Given the description of an element on the screen output the (x, y) to click on. 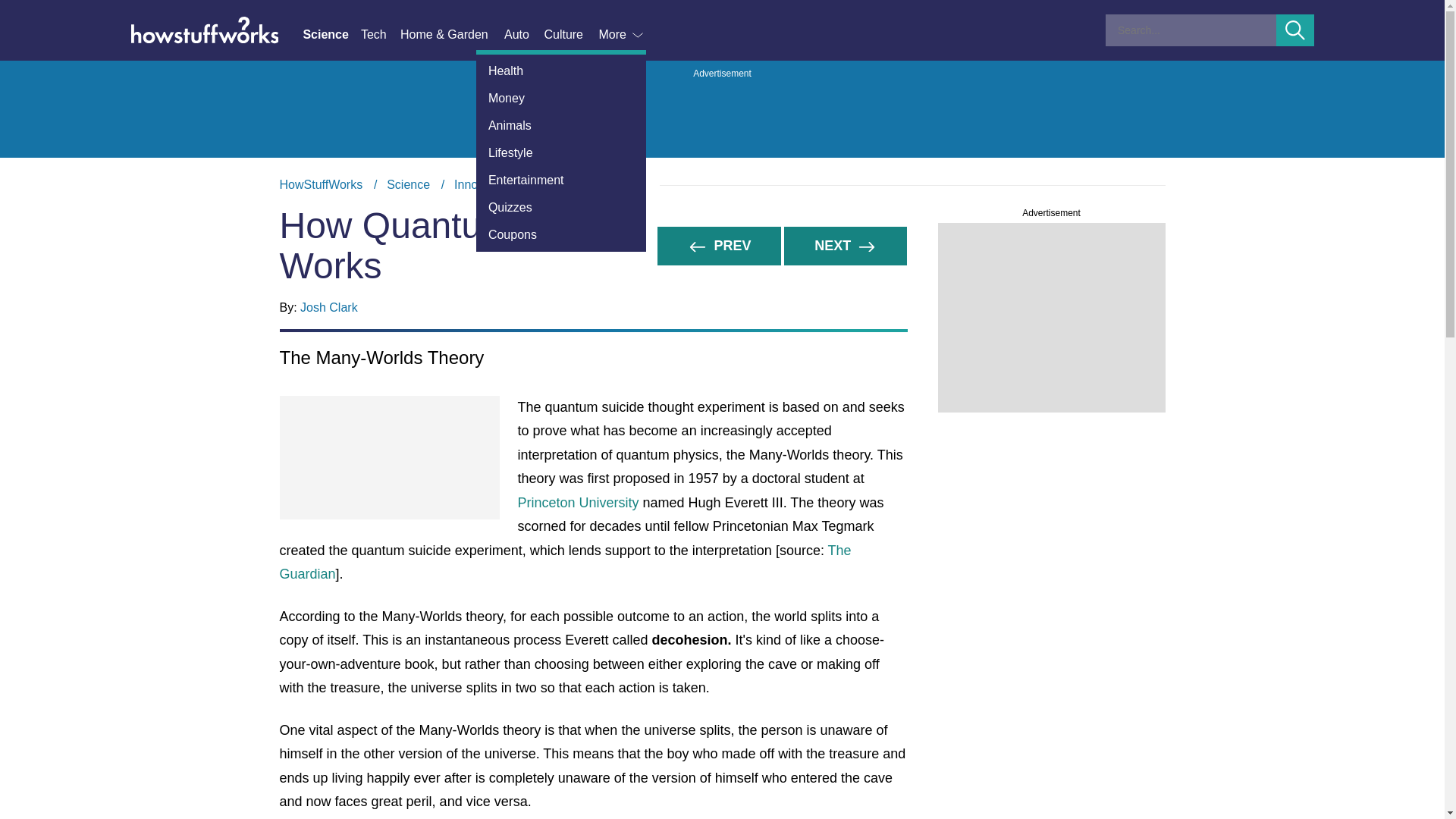
More (621, 34)
HowStuffWorks (320, 184)
Entertainment (561, 180)
Submit Search (1295, 29)
Quizzes (561, 207)
Auto (523, 34)
Science (721, 185)
Money (408, 184)
Tech (561, 98)
Innovation (380, 34)
Coupons (482, 184)
Science (561, 234)
Animals (330, 34)
Health (561, 125)
